Given the description of an element on the screen output the (x, y) to click on. 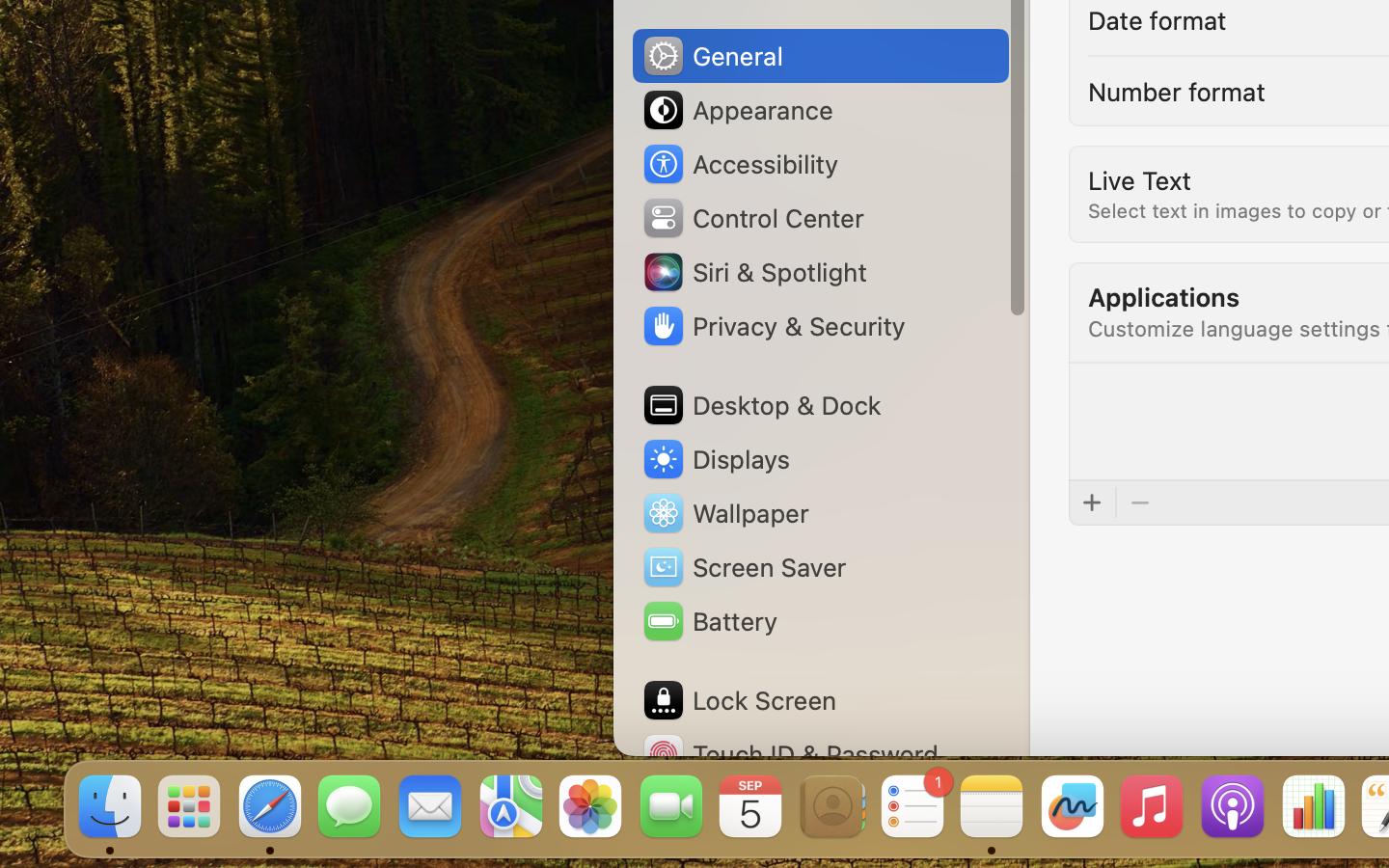
Appearance Element type: AXStaticText (736, 109)
Date format Element type: AXStaticText (1157, 18)
Number format Element type: AXStaticText (1176, 90)
Wallpaper Element type: AXStaticText (724, 512)
Lock Screen Element type: AXStaticText (738, 700)
